Given the description of an element on the screen output the (x, y) to click on. 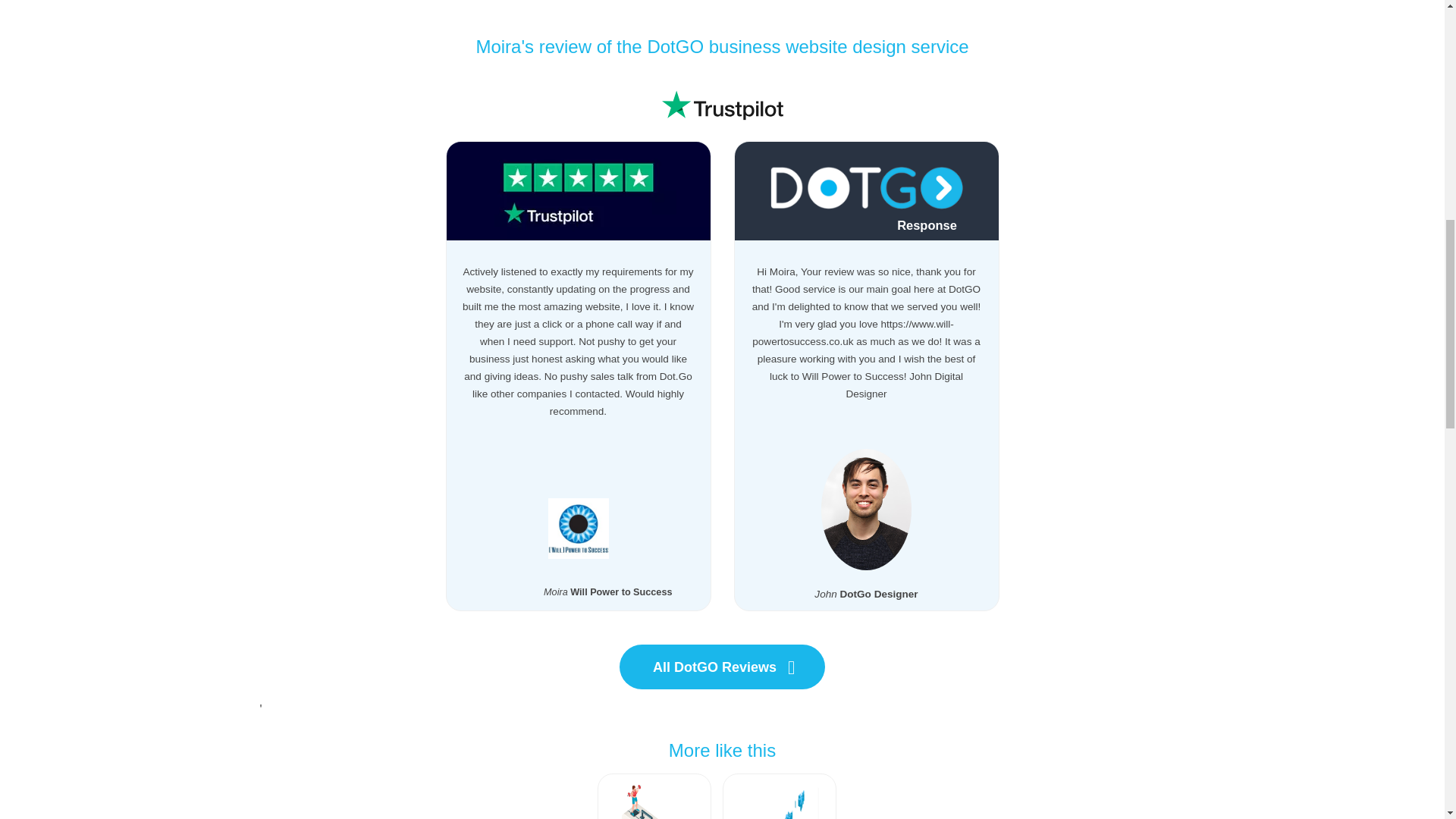
Customer reviews powered by Trustpilot (722, 105)
website design in Scotland (779, 801)
website design for Health and wellness (653, 801)
DotGO business website design service (807, 46)
  All DotGO Reviews (722, 667)
Will Power to Success client logo (577, 527)
